Given the description of an element on the screen output the (x, y) to click on. 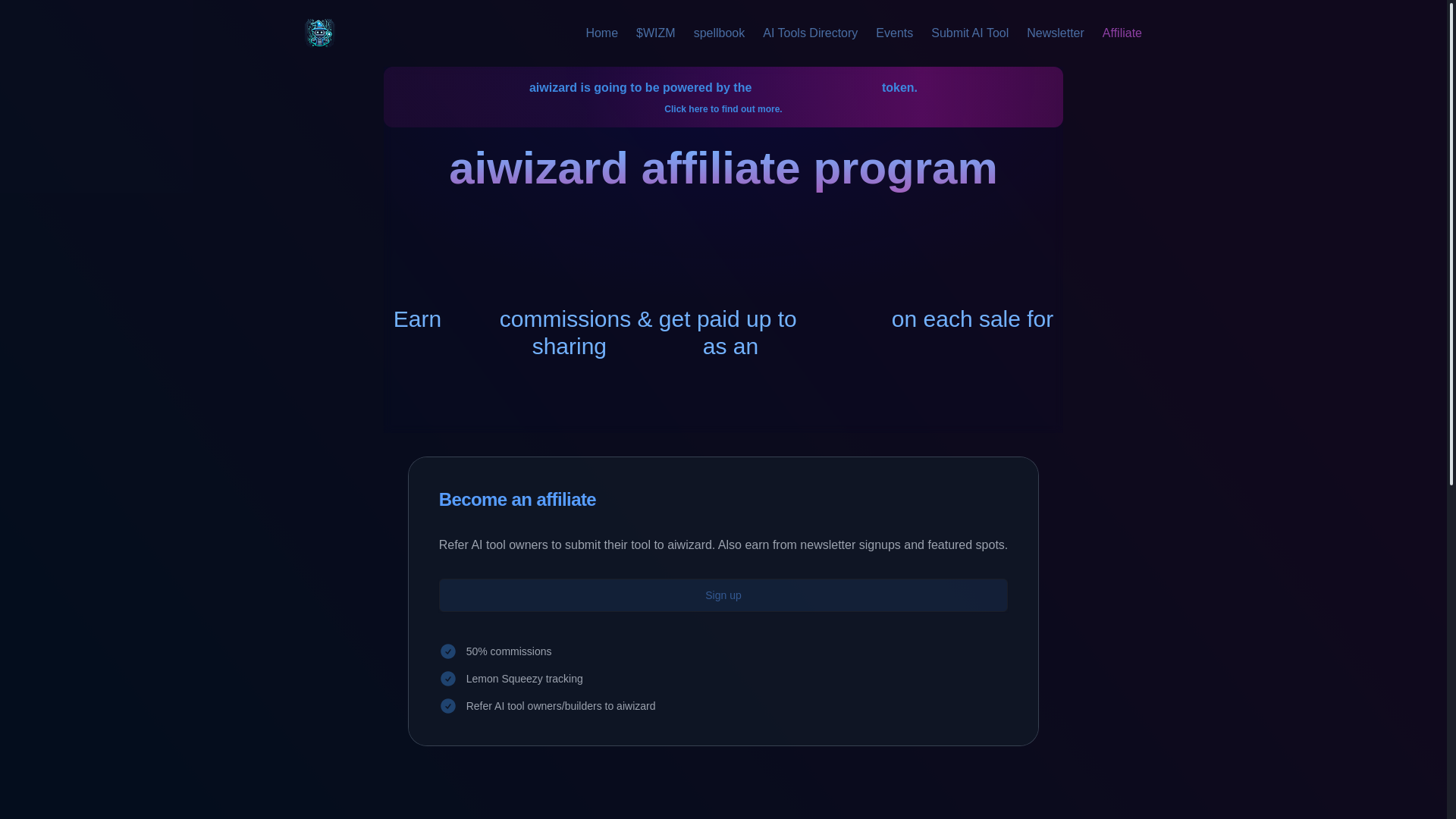
spellbook (719, 32)
Newsletter (1055, 32)
Events (894, 32)
Home (601, 32)
Submit AI Tool (970, 32)
Affiliate (1121, 32)
Sign up (724, 594)
AI Tools Directory (809, 32)
